Given the description of an element on the screen output the (x, y) to click on. 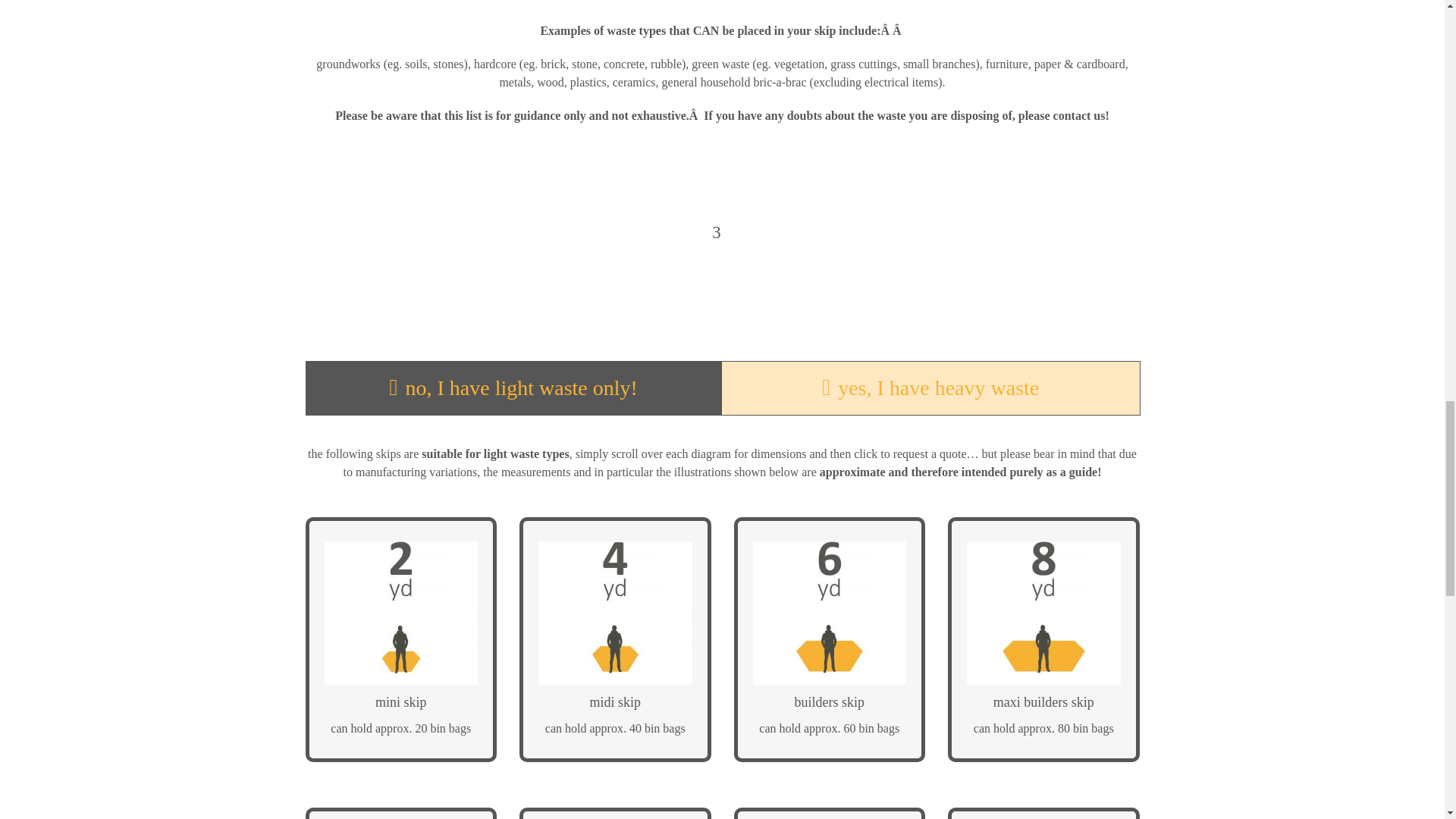
CHECK BEST RATE! (1043, 733)
CHECK BEST RATE! (615, 733)
CHECK BEST RATE! (401, 733)
CHECK BEST RATE! (828, 733)
yes, I have heavy waste (930, 388)
no, I have light waste only! (512, 388)
